Given the description of an element on the screen output the (x, y) to click on. 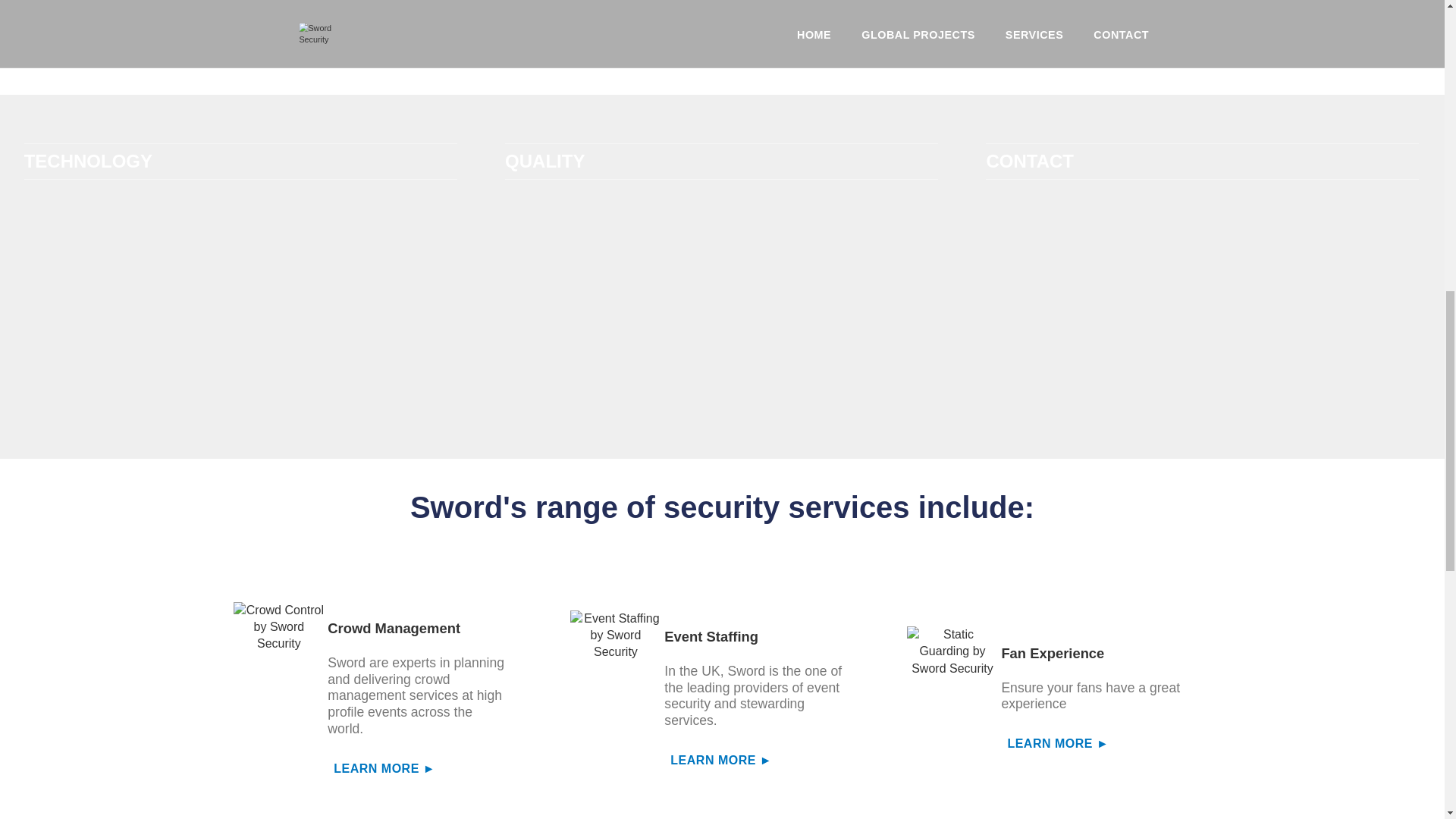
LEARN MORE (754, 760)
LEARN MORE (1091, 743)
LEARN MORE (418, 769)
